Given the description of an element on the screen output the (x, y) to click on. 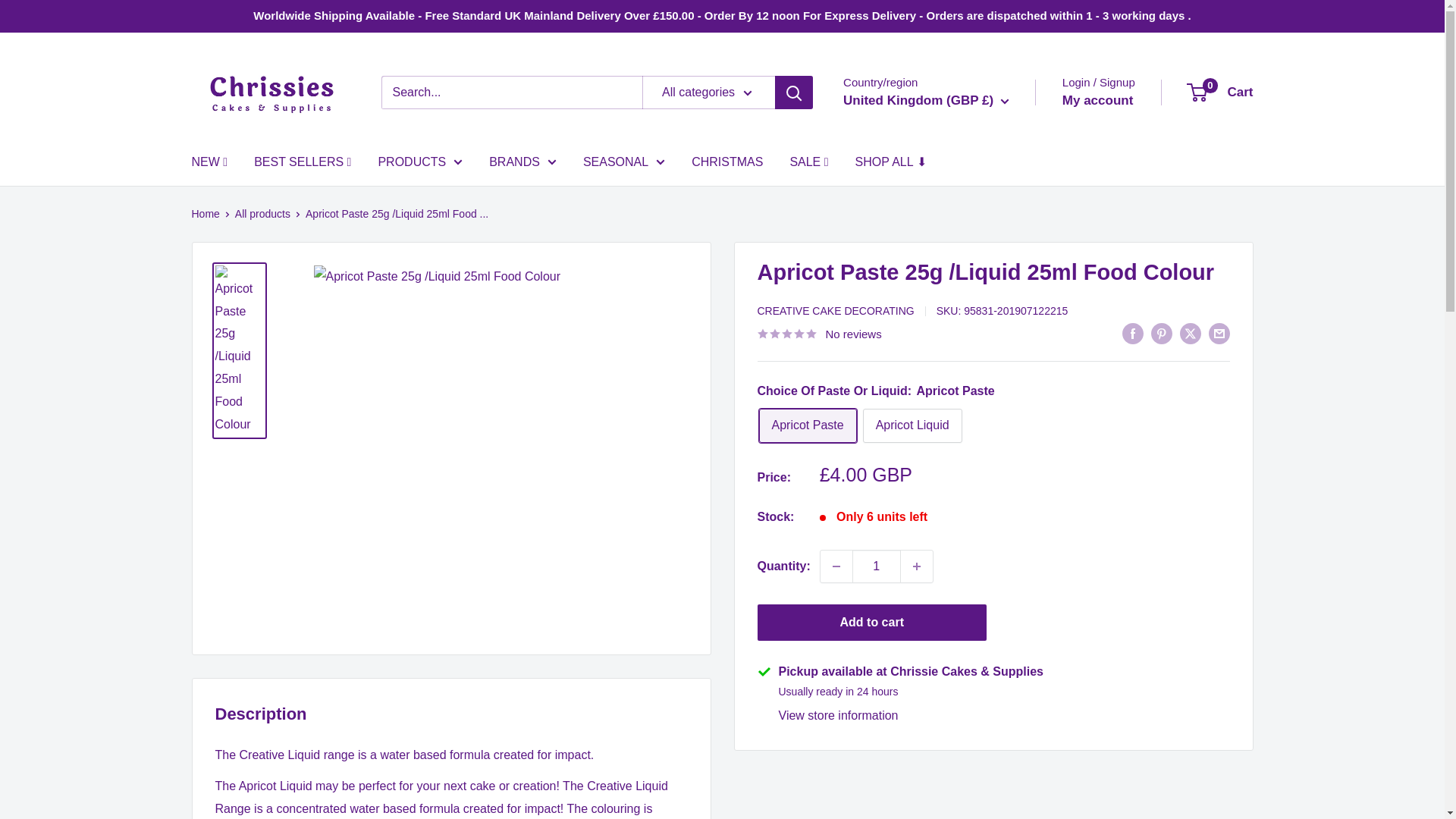
Apricot Liquid (912, 425)
Increase quantity by 1 (917, 566)
Decrease quantity by 1 (836, 566)
Apricot Paste (807, 425)
1 (876, 566)
